Given the description of an element on the screen output the (x, y) to click on. 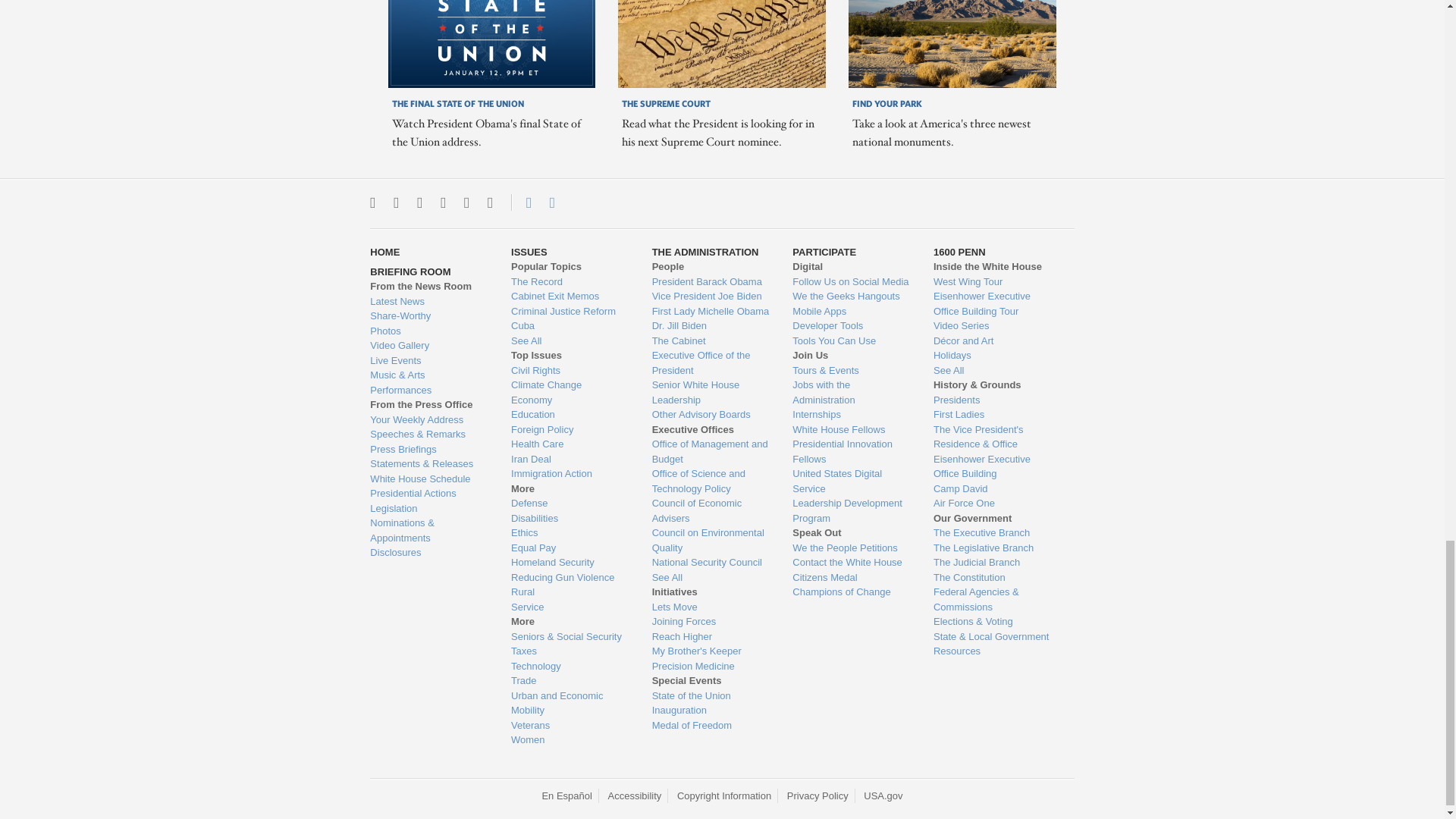
Contact the Whitehouse. (521, 202)
